Given the description of an element on the screen output the (x, y) to click on. 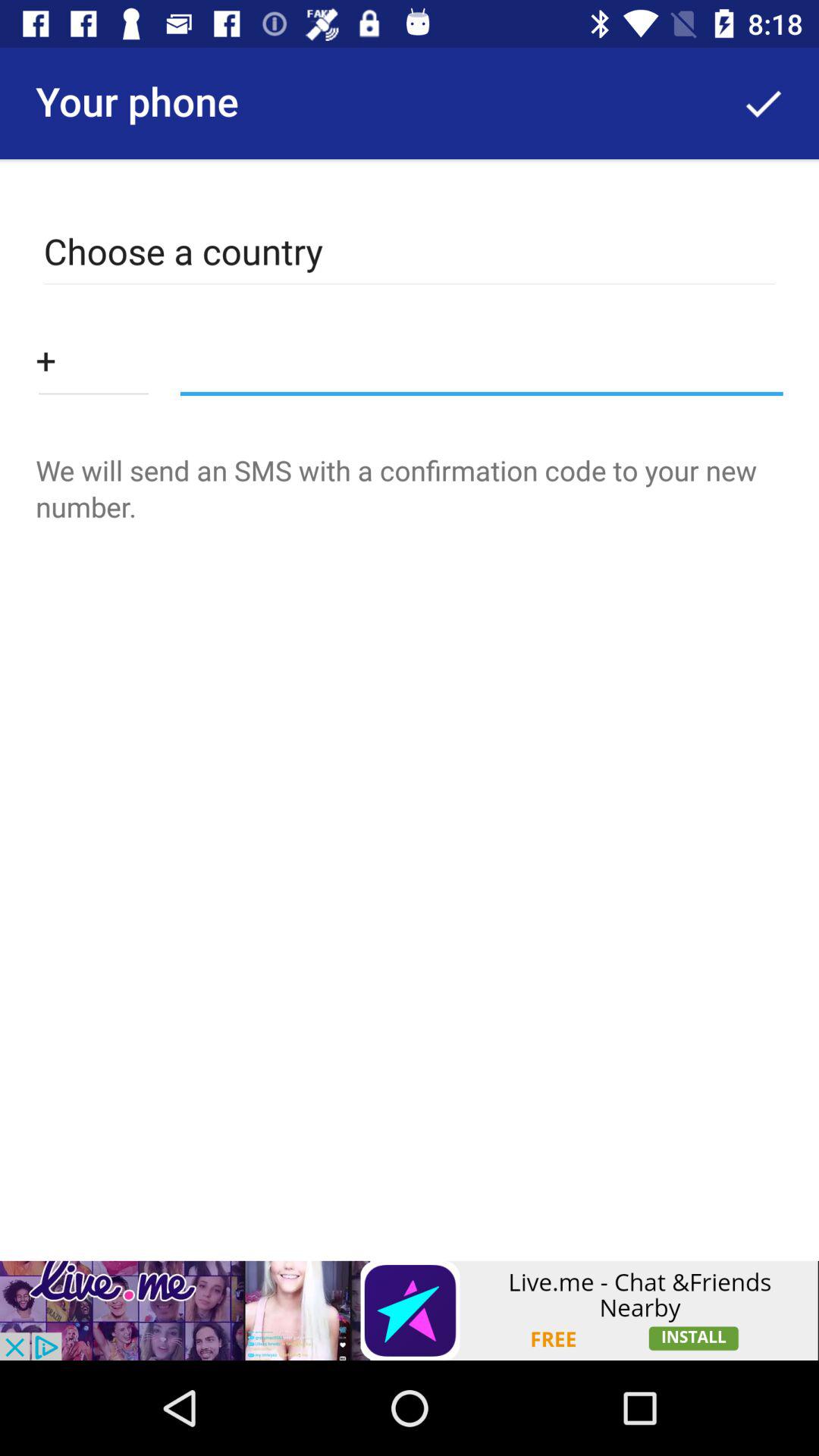
open advertisements (409, 1310)
